Given the description of an element on the screen output the (x, y) to click on. 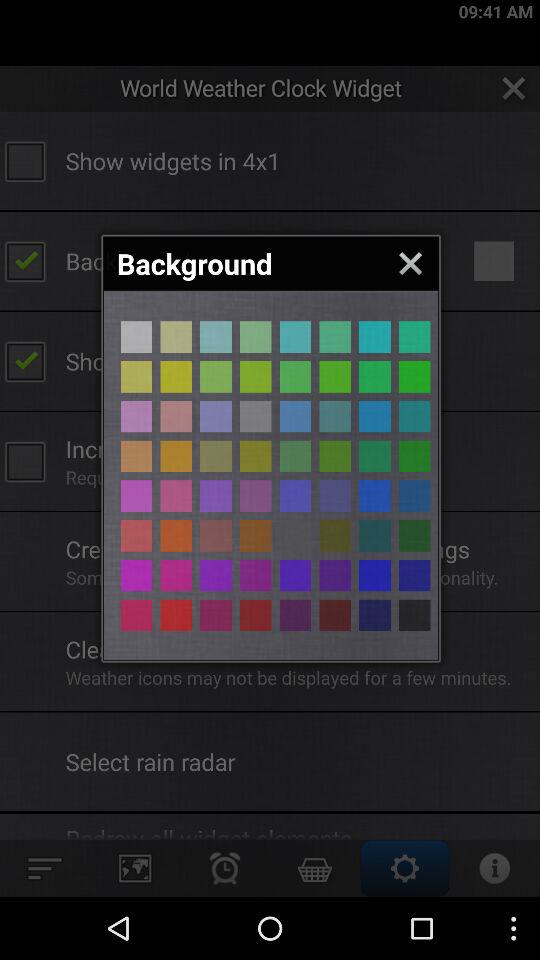
choose the color (414, 535)
